Given the description of an element on the screen output the (x, y) to click on. 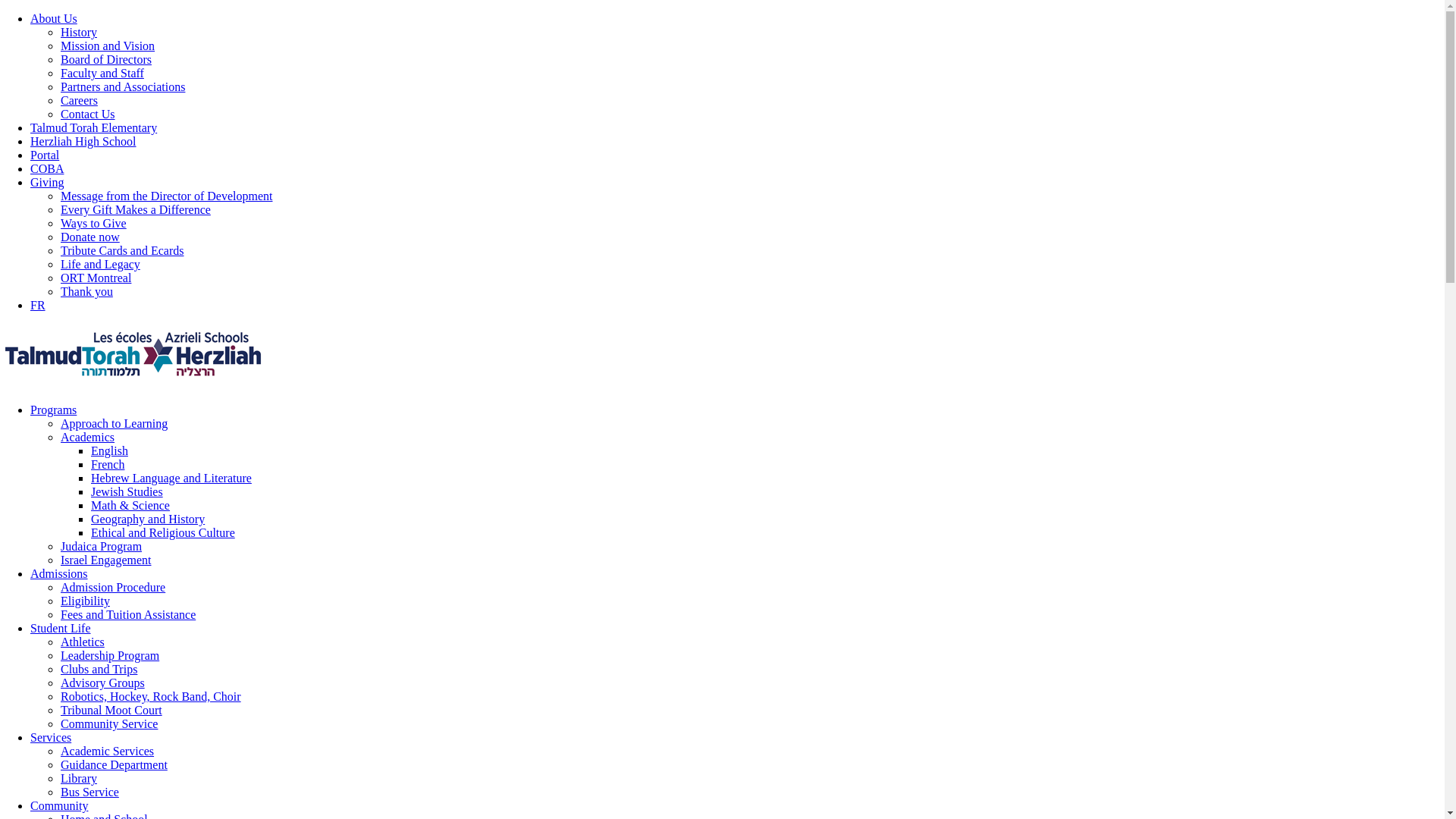
Geography and History Element type: text (147, 518)
Contact Us Element type: text (87, 113)
Library Element type: text (78, 777)
Community Element type: text (58, 805)
Bus Service Element type: text (89, 791)
Thank you Element type: text (86, 291)
Message from the Director of Development Element type: text (166, 195)
Services Element type: text (50, 737)
Academic Services Element type: text (106, 750)
Admissions Element type: text (58, 573)
Careers Element type: text (78, 100)
Portal Element type: text (44, 154)
Academics Element type: text (87, 436)
Israel Engagement Element type: text (105, 559)
English Element type: text (109, 450)
Clubs and Trips Element type: text (98, 668)
ORT Montreal Element type: text (95, 277)
Admission Procedure Element type: text (112, 586)
About Us Element type: text (53, 18)
Robotics, Hockey, Rock Band, Choir Element type: text (150, 696)
Eligibility Element type: text (84, 600)
Hebrew Language and Literature Element type: text (171, 477)
Judaica Program Element type: text (100, 545)
Faculty and Staff Element type: text (102, 72)
Jewish Studies Element type: text (127, 491)
Ways to Give Element type: text (93, 222)
Talmud Torah Elementary Element type: text (93, 127)
Athletics Element type: text (82, 641)
Programs Element type: text (53, 409)
Herzliah High School Element type: text (83, 140)
Tribunal Moot Court Element type: text (111, 709)
Advisory Groups Element type: text (102, 682)
Partners and Associations Element type: text (122, 86)
Tribute Cards and Ecards Element type: text (122, 250)
Every Gift Makes a Difference Element type: text (135, 209)
Math & Science Element type: text (130, 504)
COBA Element type: text (46, 168)
History Element type: text (78, 31)
Ethical and Religious Culture Element type: text (163, 532)
Community Service Element type: text (108, 723)
Fees and Tuition Assistance Element type: text (127, 614)
Leadership Program Element type: text (109, 655)
Mission and Vision Element type: text (107, 45)
Student Life Element type: text (60, 627)
Board of Directors Element type: text (105, 59)
Life and Legacy Element type: text (100, 263)
Approach to Learning Element type: text (113, 423)
Donate now Element type: text (89, 236)
Guidance Department Element type: text (113, 764)
Giving Element type: text (46, 181)
FR Element type: text (37, 304)
French Element type: text (107, 464)
